Given the description of an element on the screen output the (x, y) to click on. 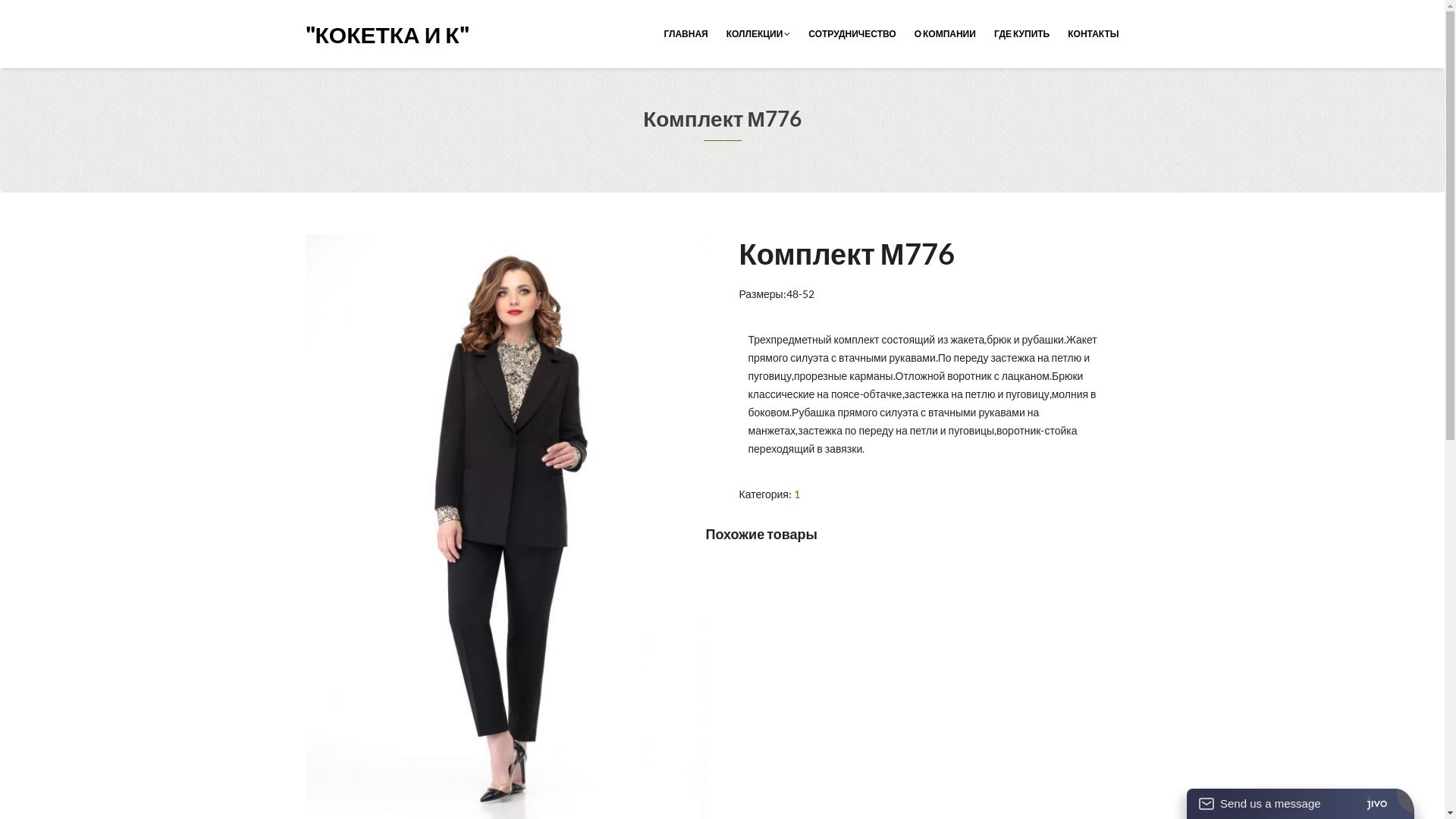
1 Element type: text (796, 493)
